Given the description of an element on the screen output the (x, y) to click on. 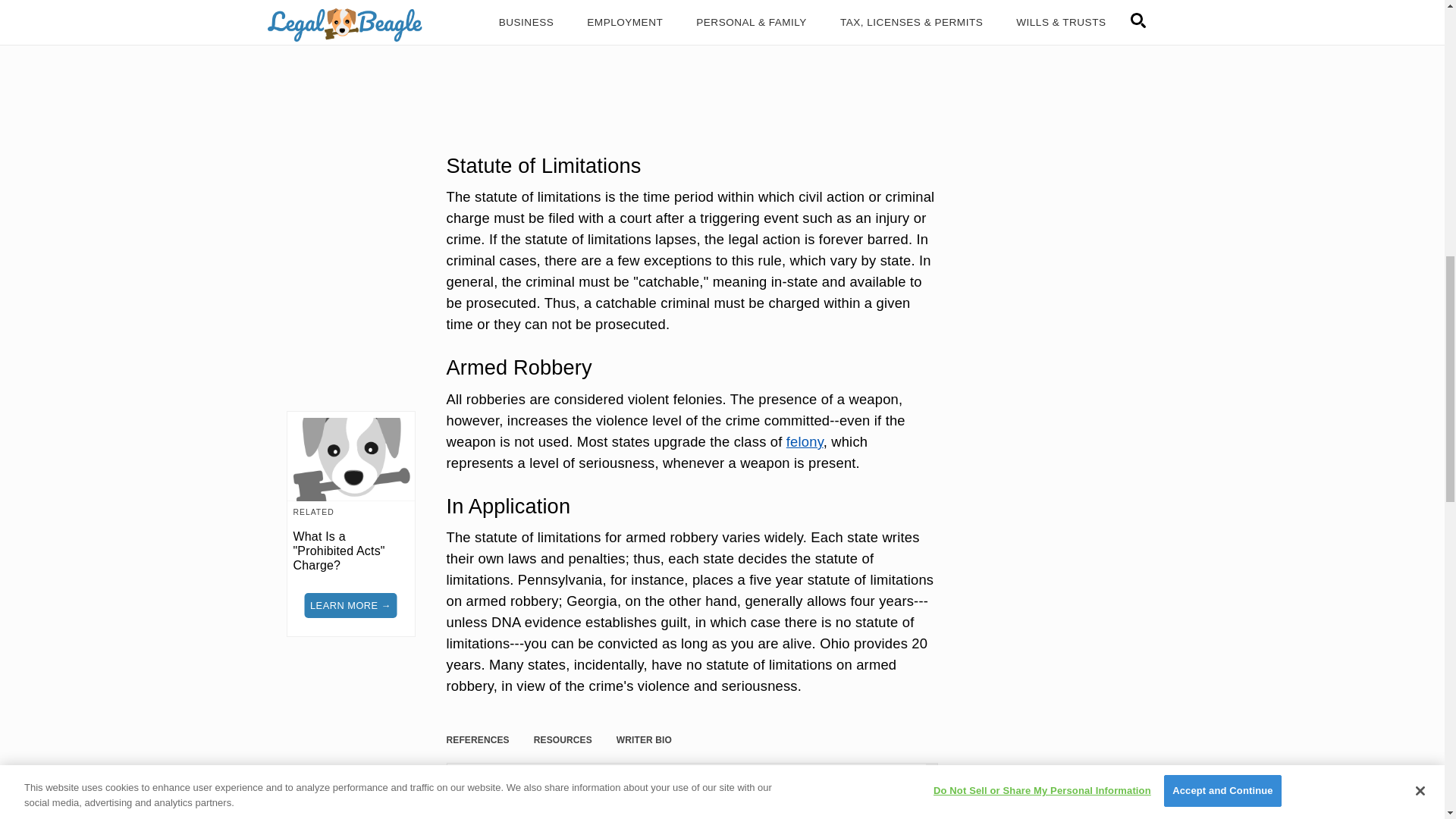
Advertisement (691, 60)
